Given the description of an element on the screen output the (x, y) to click on. 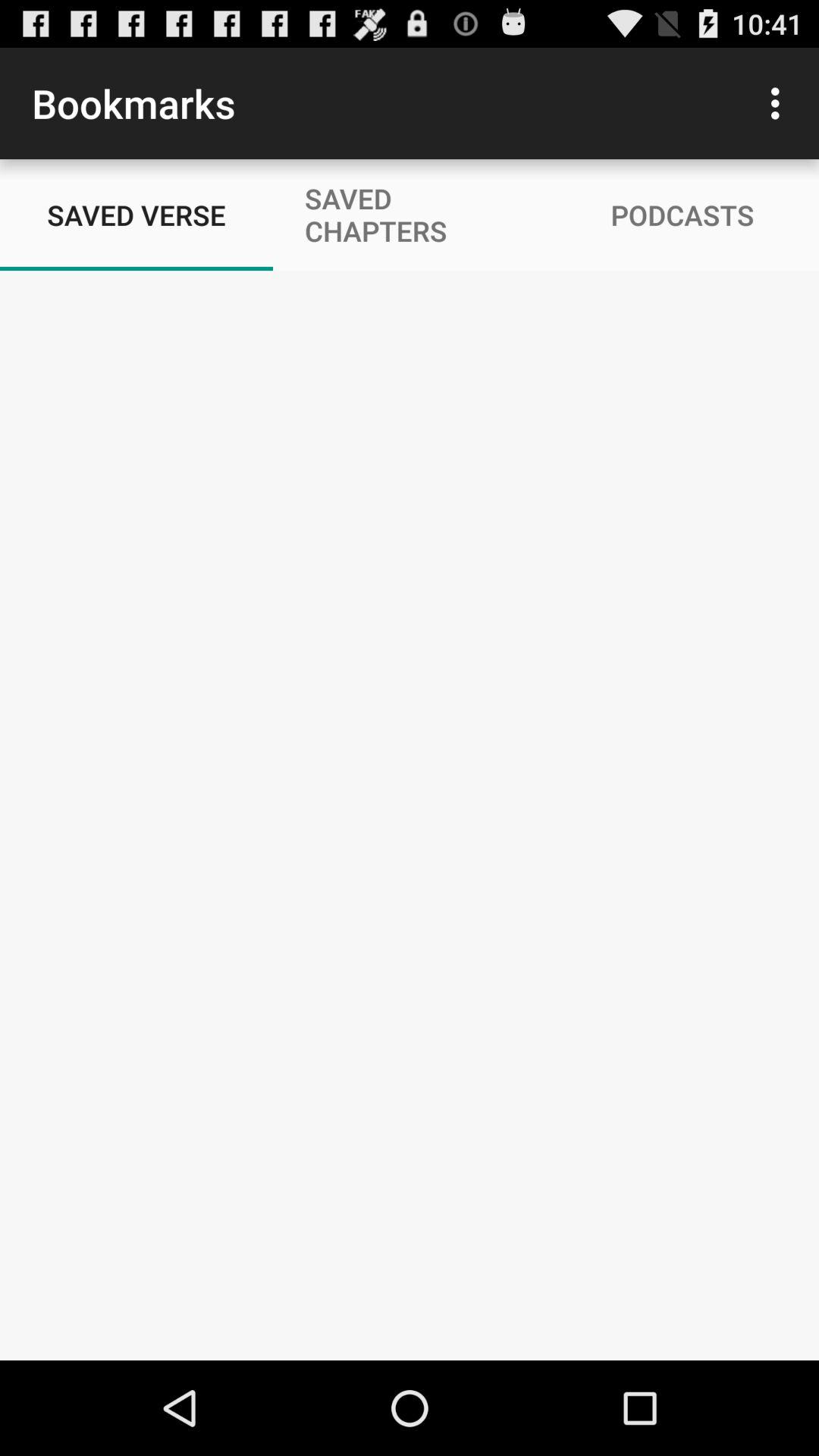
select the icon at the center (409, 815)
